Given the description of an element on the screen output the (x, y) to click on. 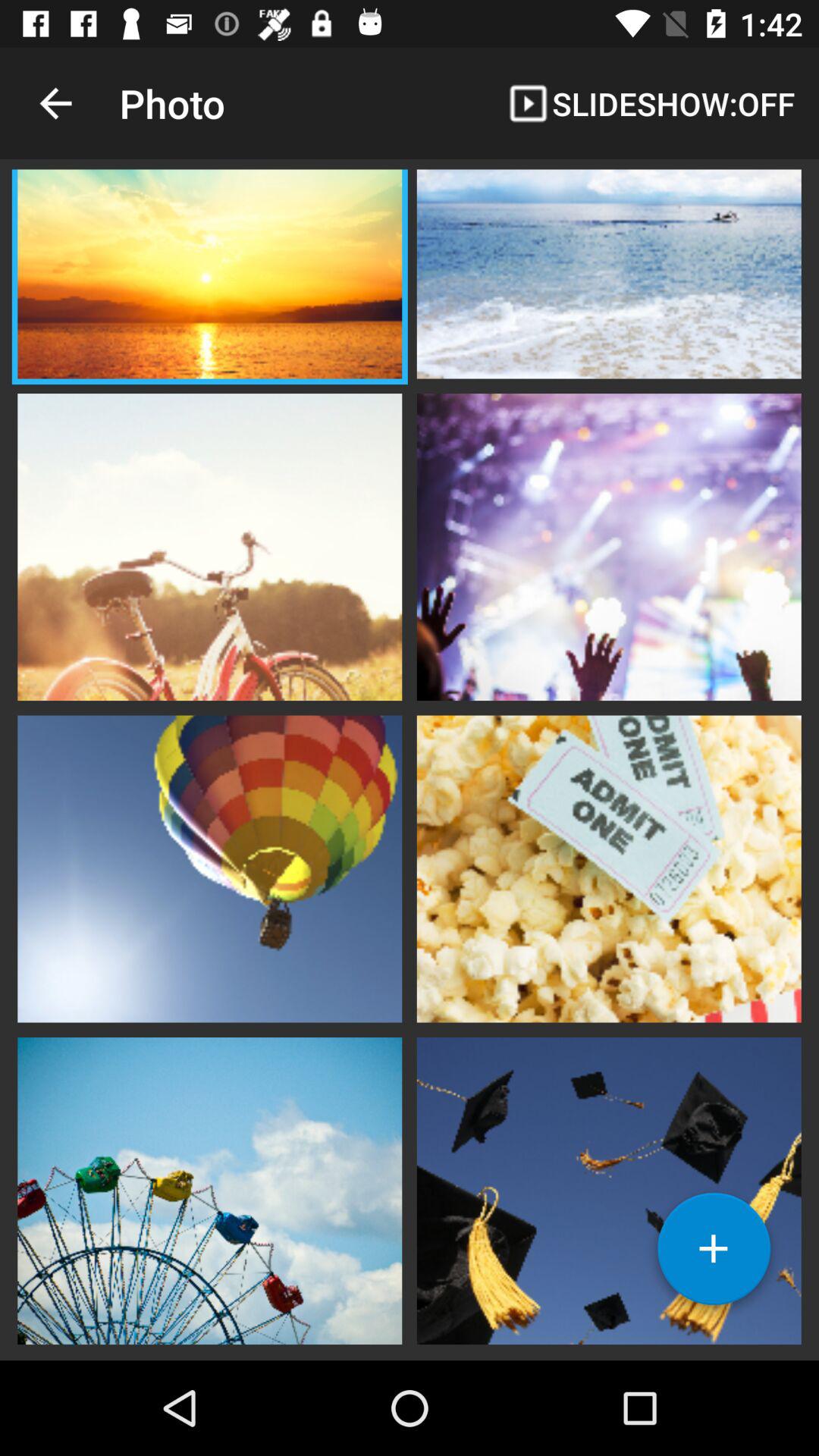
open picture to see in full screen (609, 867)
